Given the description of an element on the screen output the (x, y) to click on. 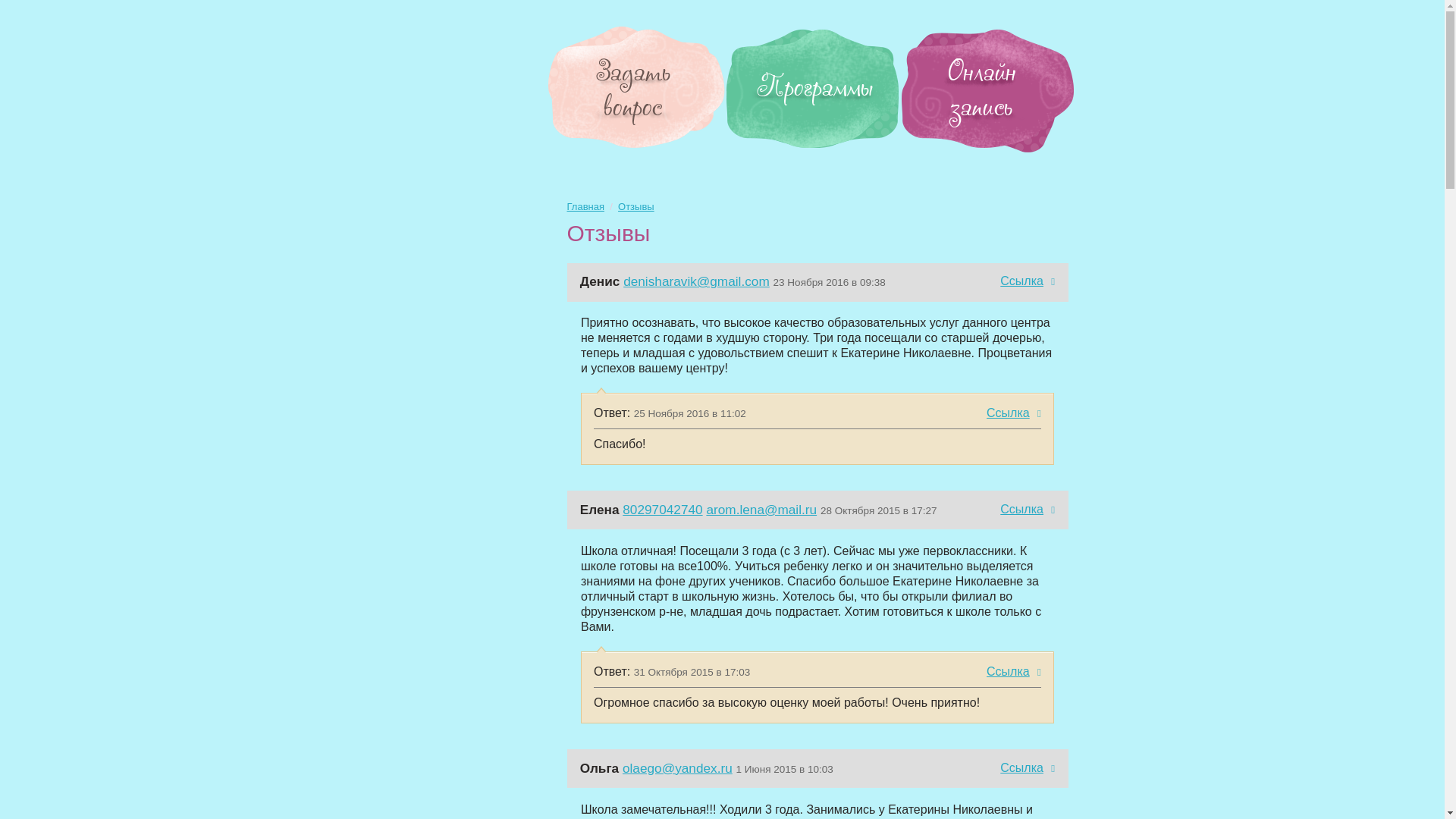
80297042740 Element type: text (662, 509)
olaego@yandex.ru Element type: text (677, 767)
arom.lena@mail.ru Element type: text (761, 509)
denisharavik@gmail.com Element type: text (696, 280)
